Given the description of an element on the screen output the (x, y) to click on. 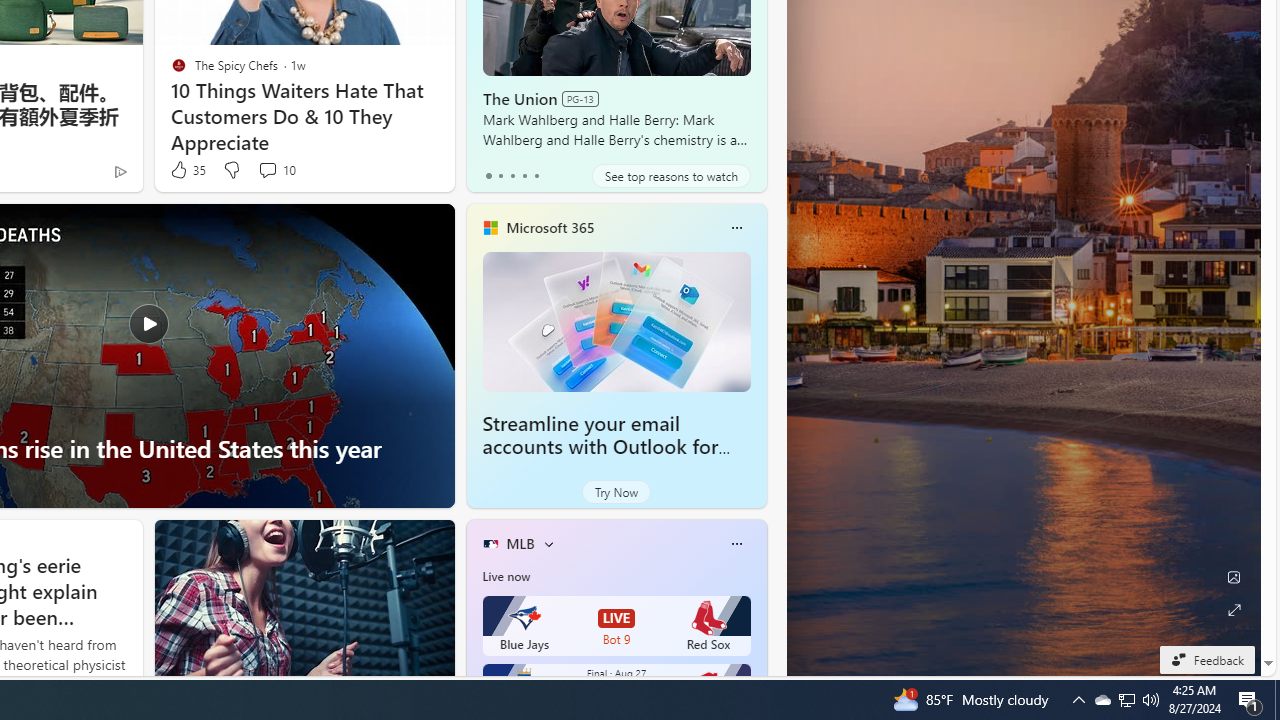
Streamline your email accounts with Outlook for Windows (616, 321)
Edit Background (1233, 577)
MLB (520, 543)
Class: icon-img (736, 543)
Streamline your email accounts with Outlook for Windows (600, 446)
See top reasons to watch (671, 175)
35 Like (186, 170)
View comments 10 Comment (267, 169)
tab-0 (488, 175)
Try Now (616, 491)
More interests (548, 543)
tab-2 (511, 175)
tab-4 (535, 175)
